Given the description of an element on the screen output the (x, y) to click on. 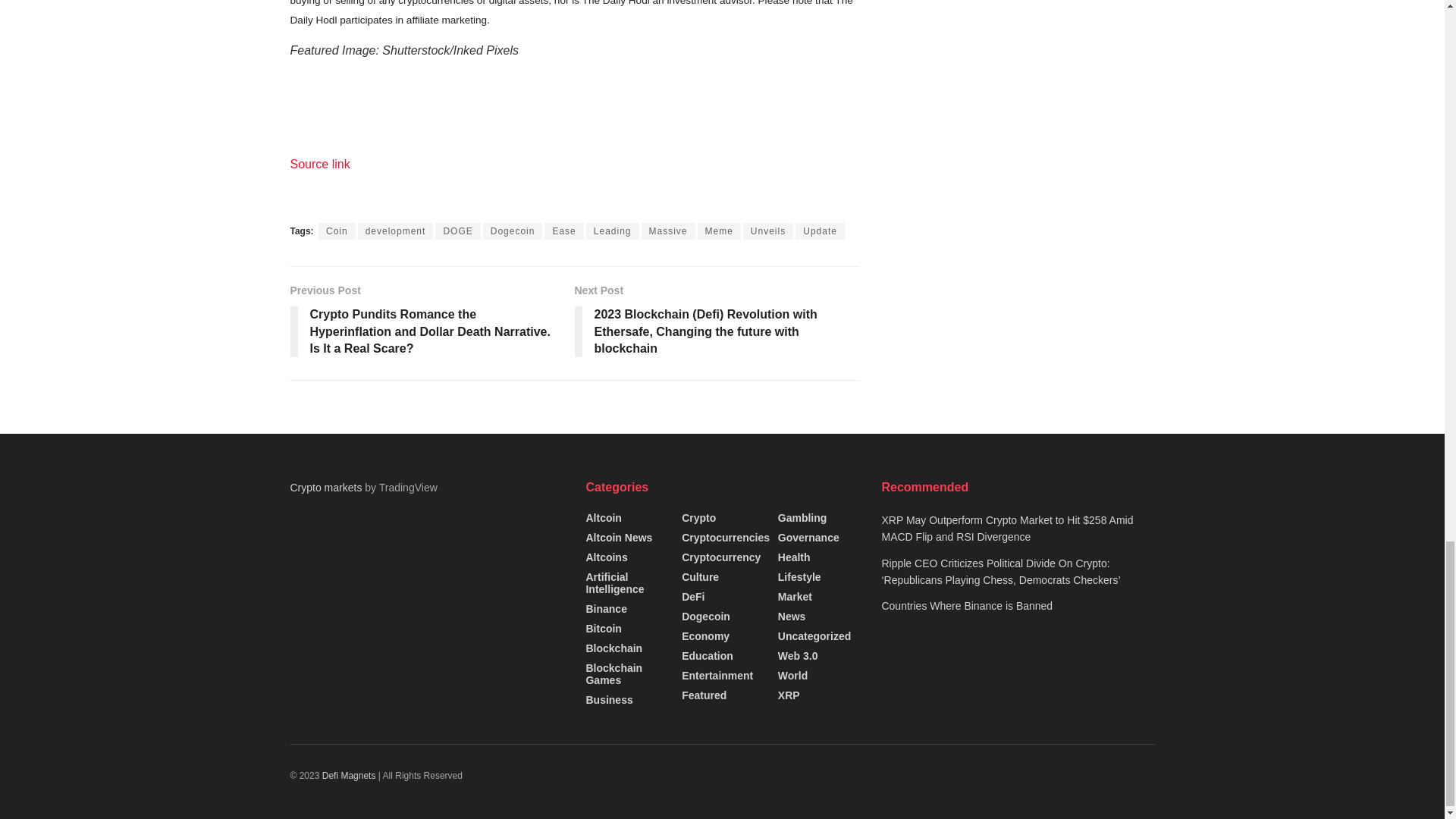
Source link (319, 164)
Premium news  (349, 775)
